Given the description of an element on the screen output the (x, y) to click on. 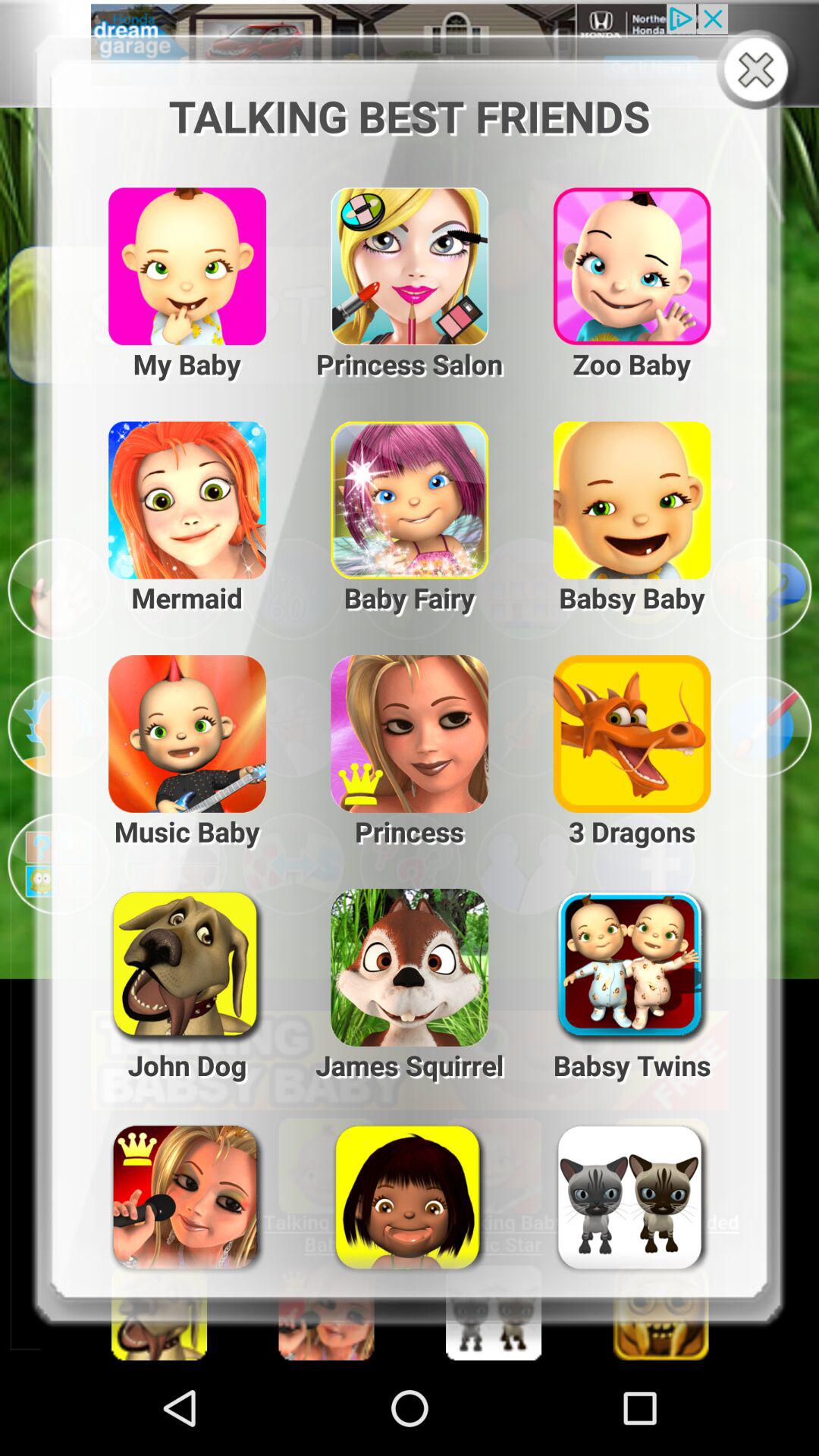
image of a music baby (175, 726)
